Given the description of an element on the screen output the (x, y) to click on. 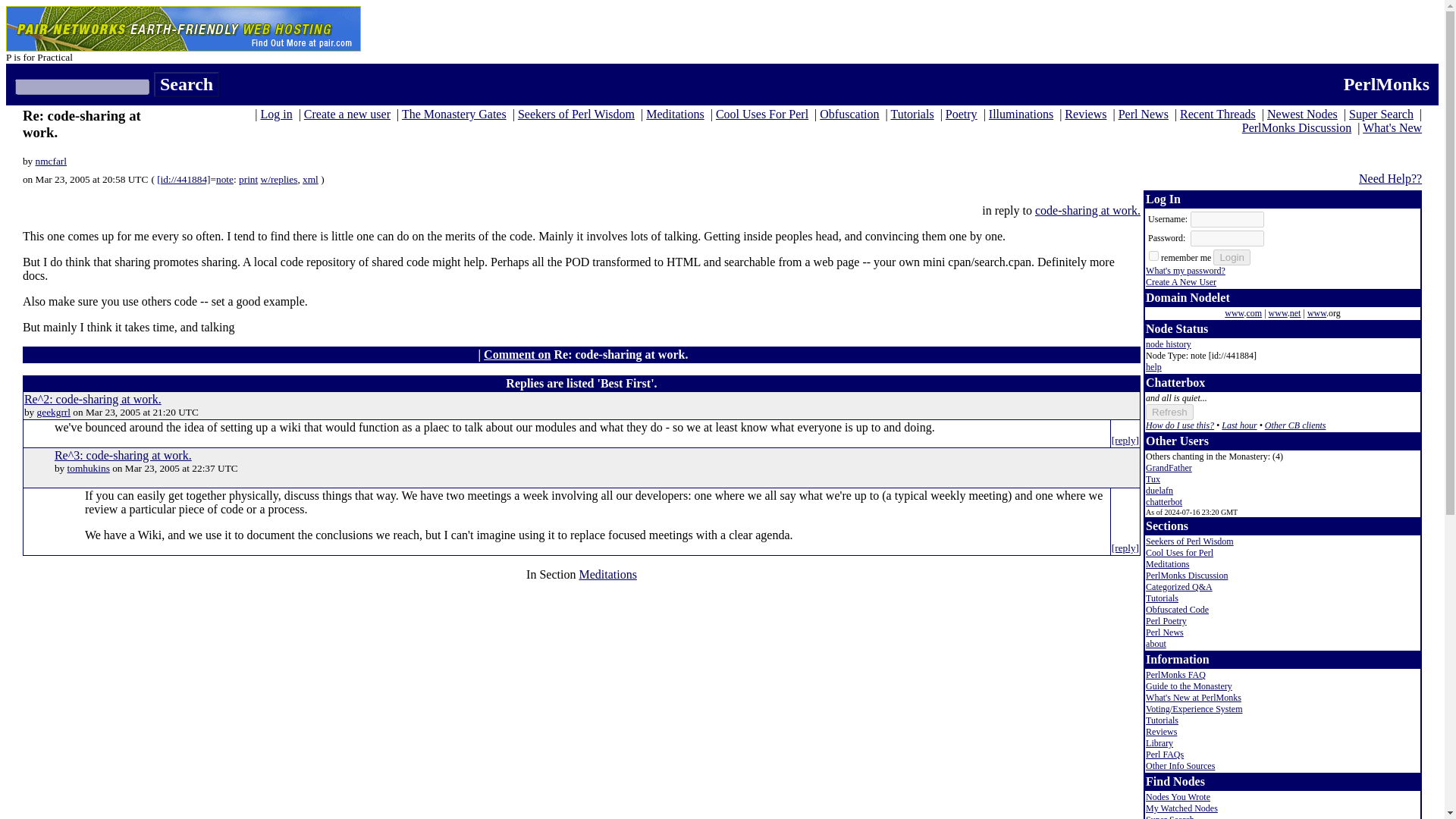
Illuminations (1020, 113)
Search (186, 84)
Tux's home node. Level 20 (1152, 479)
PerlMonks (1386, 84)
Poetry (960, 113)
The Monastery Gates (453, 113)
Seekers of Perl Wisdom (576, 113)
code-sharing at work. (1087, 210)
Recent Threads (1217, 113)
note (223, 179)
Login (1231, 257)
Meditations (674, 113)
xml (310, 179)
Login (1231, 257)
tomhukins (88, 468)
